Given the description of an element on the screen output the (x, y) to click on. 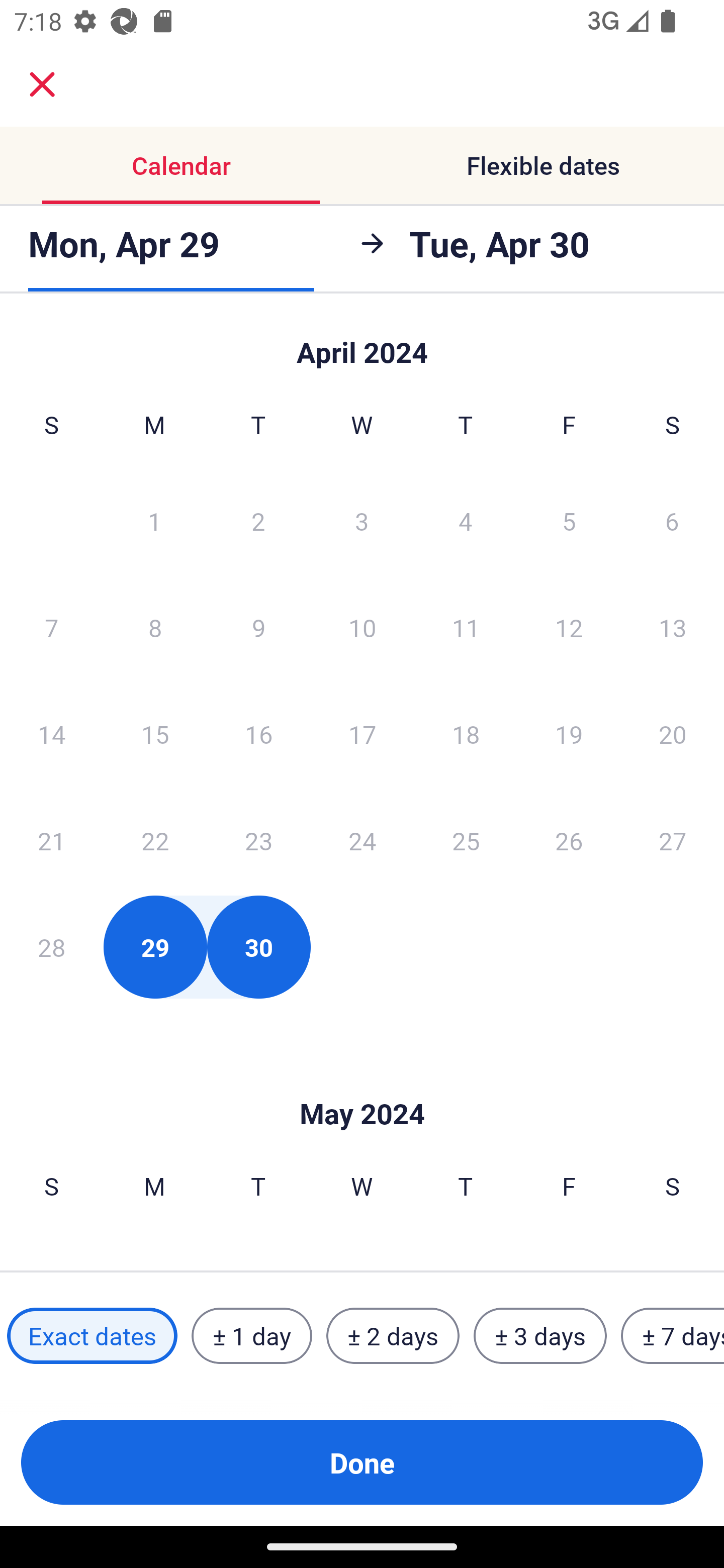
close. (42, 84)
Flexible dates (542, 164)
Skip to Done (362, 343)
1 Monday, April 1, 2024 (154, 520)
2 Tuesday, April 2, 2024 (257, 520)
3 Wednesday, April 3, 2024 (361, 520)
4 Thursday, April 4, 2024 (465, 520)
5 Friday, April 5, 2024 (568, 520)
6 Saturday, April 6, 2024 (672, 520)
7 Sunday, April 7, 2024 (51, 626)
8 Monday, April 8, 2024 (155, 626)
9 Tuesday, April 9, 2024 (258, 626)
10 Wednesday, April 10, 2024 (362, 626)
11 Thursday, April 11, 2024 (465, 626)
12 Friday, April 12, 2024 (569, 626)
13 Saturday, April 13, 2024 (672, 626)
14 Sunday, April 14, 2024 (51, 733)
15 Monday, April 15, 2024 (155, 733)
16 Tuesday, April 16, 2024 (258, 733)
17 Wednesday, April 17, 2024 (362, 733)
18 Thursday, April 18, 2024 (465, 733)
19 Friday, April 19, 2024 (569, 733)
20 Saturday, April 20, 2024 (672, 733)
21 Sunday, April 21, 2024 (51, 840)
22 Monday, April 22, 2024 (155, 840)
23 Tuesday, April 23, 2024 (258, 840)
24 Wednesday, April 24, 2024 (362, 840)
25 Thursday, April 25, 2024 (465, 840)
26 Friday, April 26, 2024 (569, 840)
27 Saturday, April 27, 2024 (672, 840)
28 Sunday, April 28, 2024 (51, 946)
Skip to Done (362, 1083)
Exact dates (92, 1335)
± 1 day (251, 1335)
± 2 days (392, 1335)
± 3 days (539, 1335)
± 7 days (672, 1335)
Done (361, 1462)
